Given the description of an element on the screen output the (x, y) to click on. 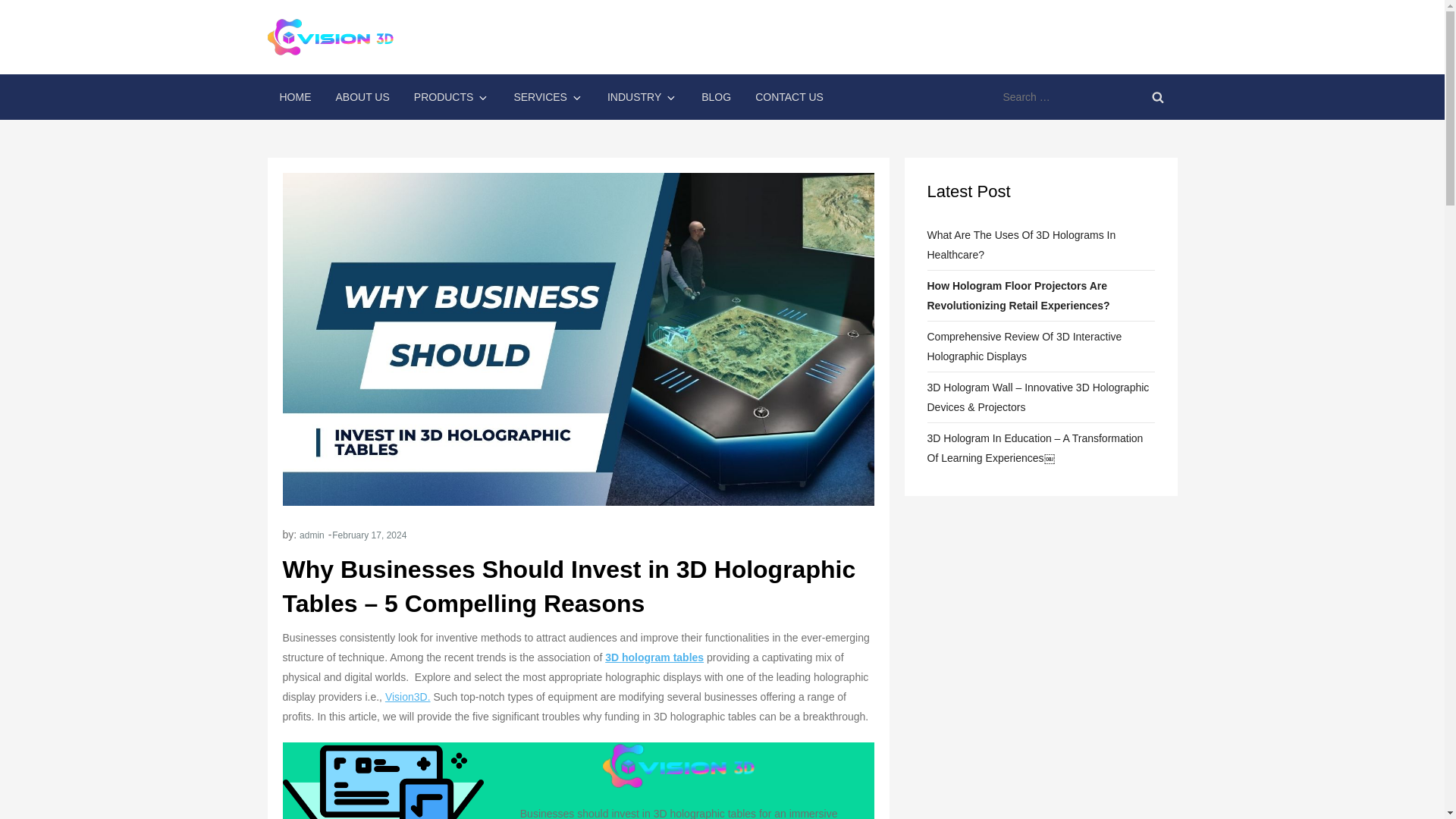
3D hologram tables (654, 657)
February 17, 2024 (368, 534)
CONTACT US (788, 96)
SERVICES (547, 96)
Vision3D. (407, 696)
INDUSTRY (641, 96)
HOME (294, 96)
ABOUT US (362, 96)
BLOG (715, 96)
PRODUCTS (451, 96)
admin (311, 534)
